Given the description of an element on the screen output the (x, y) to click on. 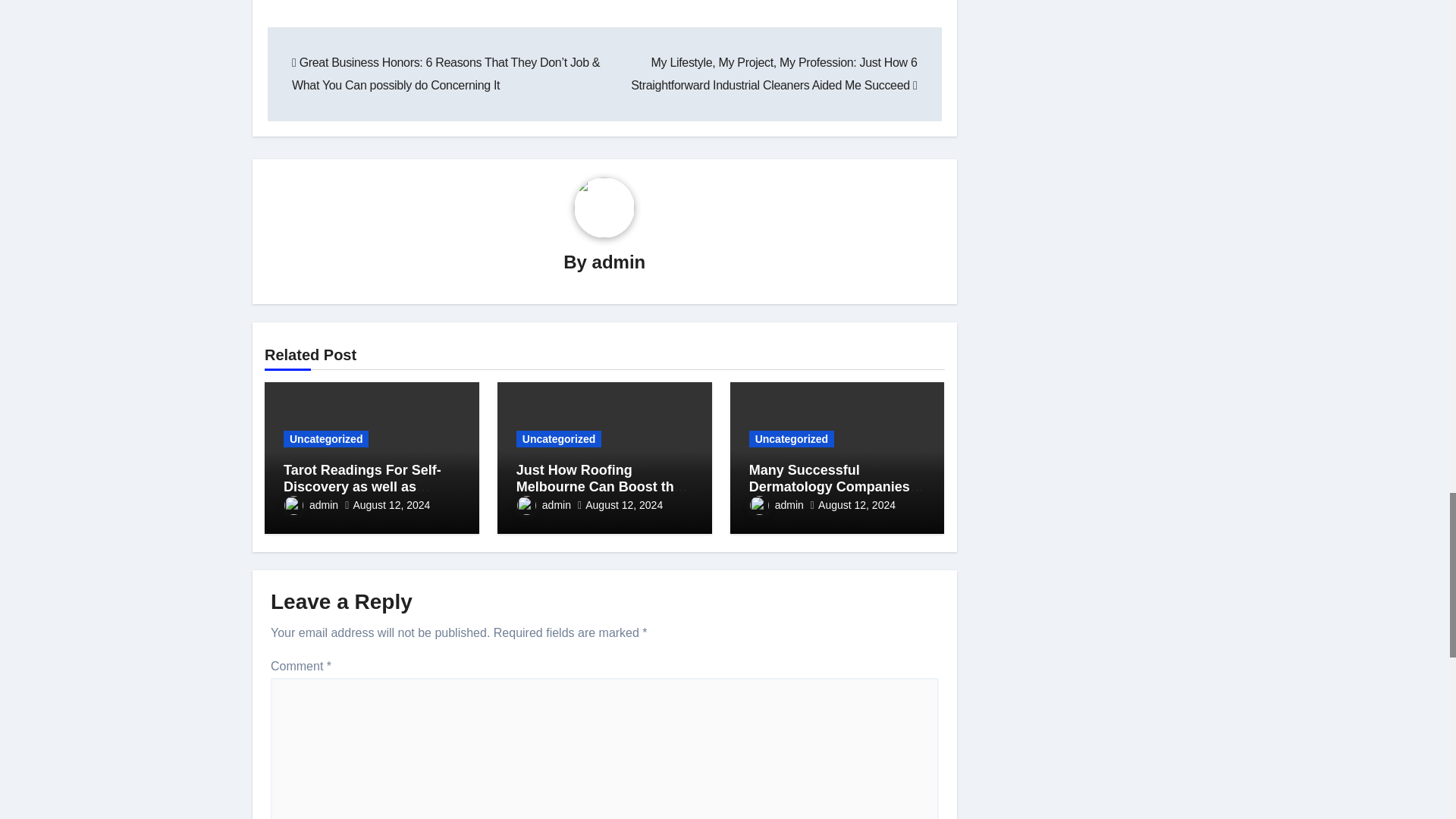
August 12, 2024 (390, 504)
admin (619, 261)
admin (310, 504)
Tarot Readings For Self-Discovery as well as Reflection (362, 486)
Uncategorized (325, 438)
Permalink to: Many Successful Dermatology Companies In Area (836, 486)
